Given the description of an element on the screen output the (x, y) to click on. 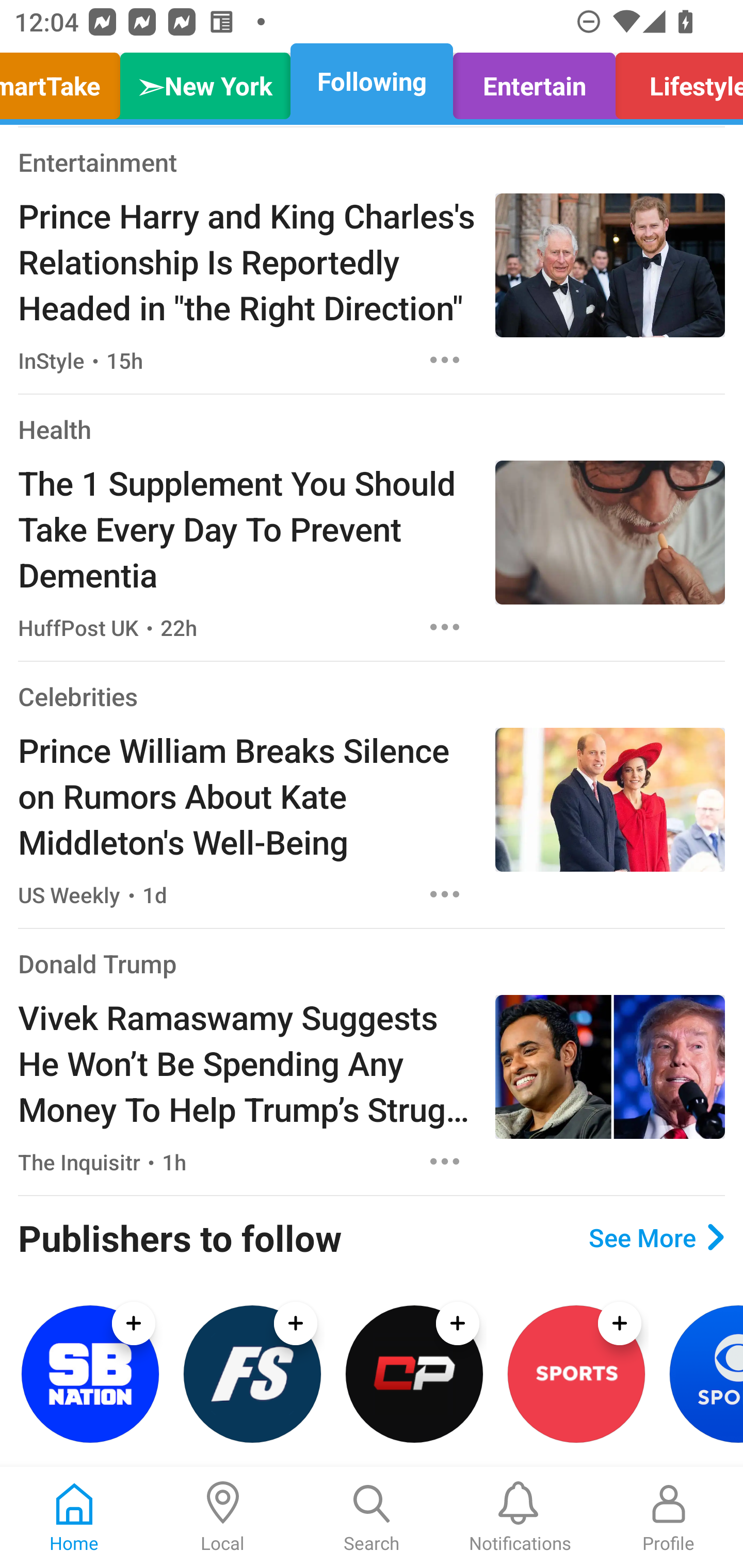
SmartTake (65, 81)
➣New York (205, 81)
Following (371, 81)
Entertain (534, 81)
Entertainment (97, 161)
Options (444, 359)
Health (54, 429)
Options (444, 627)
Celebrities (77, 695)
Options (444, 894)
Donald Trump (97, 963)
Options (444, 1161)
See More (656, 1236)
Local (222, 1517)
Search (371, 1517)
Notifications (519, 1517)
Profile (668, 1517)
